Given the description of an element on the screen output the (x, y) to click on. 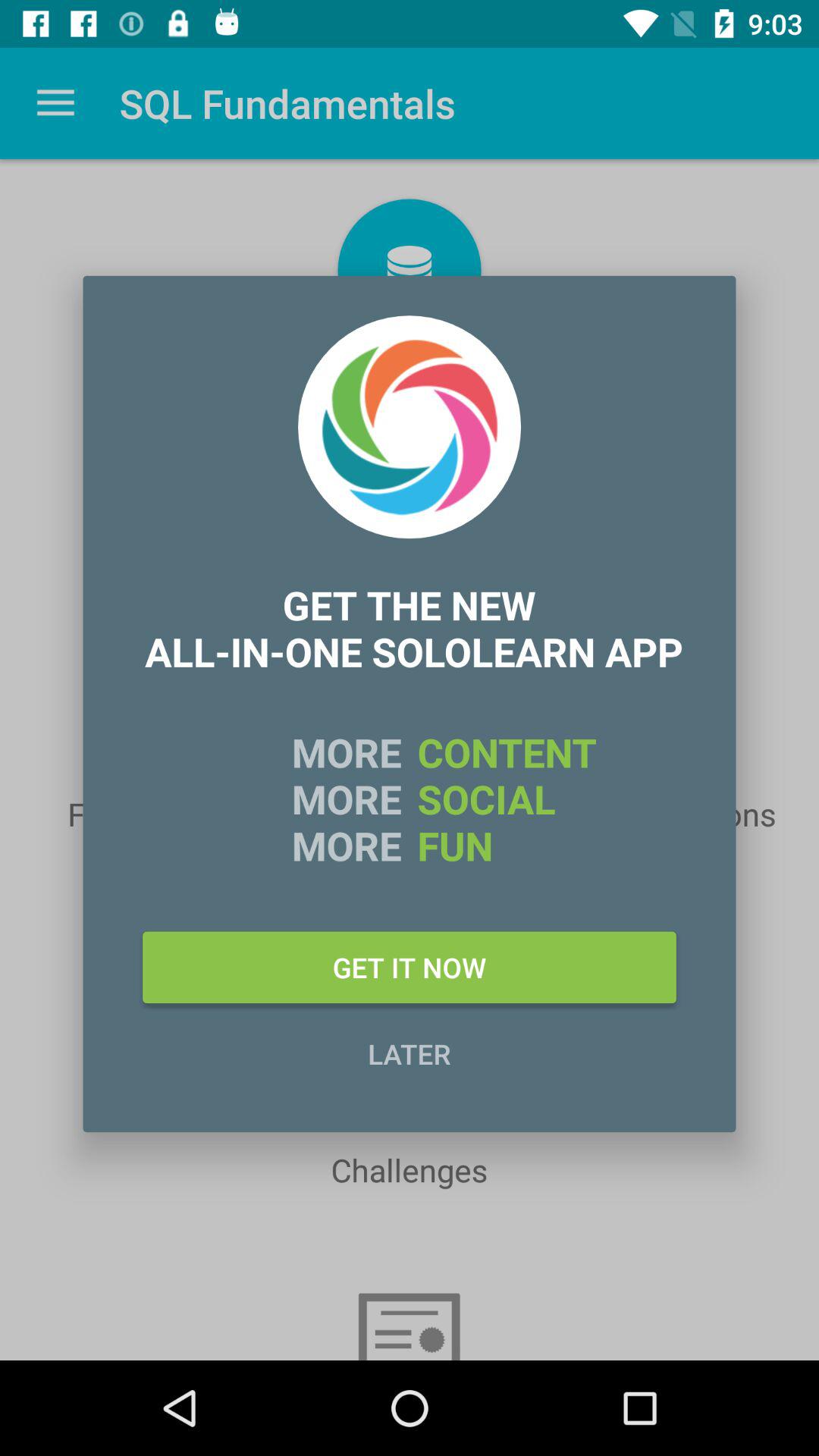
flip to the get it now item (409, 967)
